Given the description of an element on the screen output the (x, y) to click on. 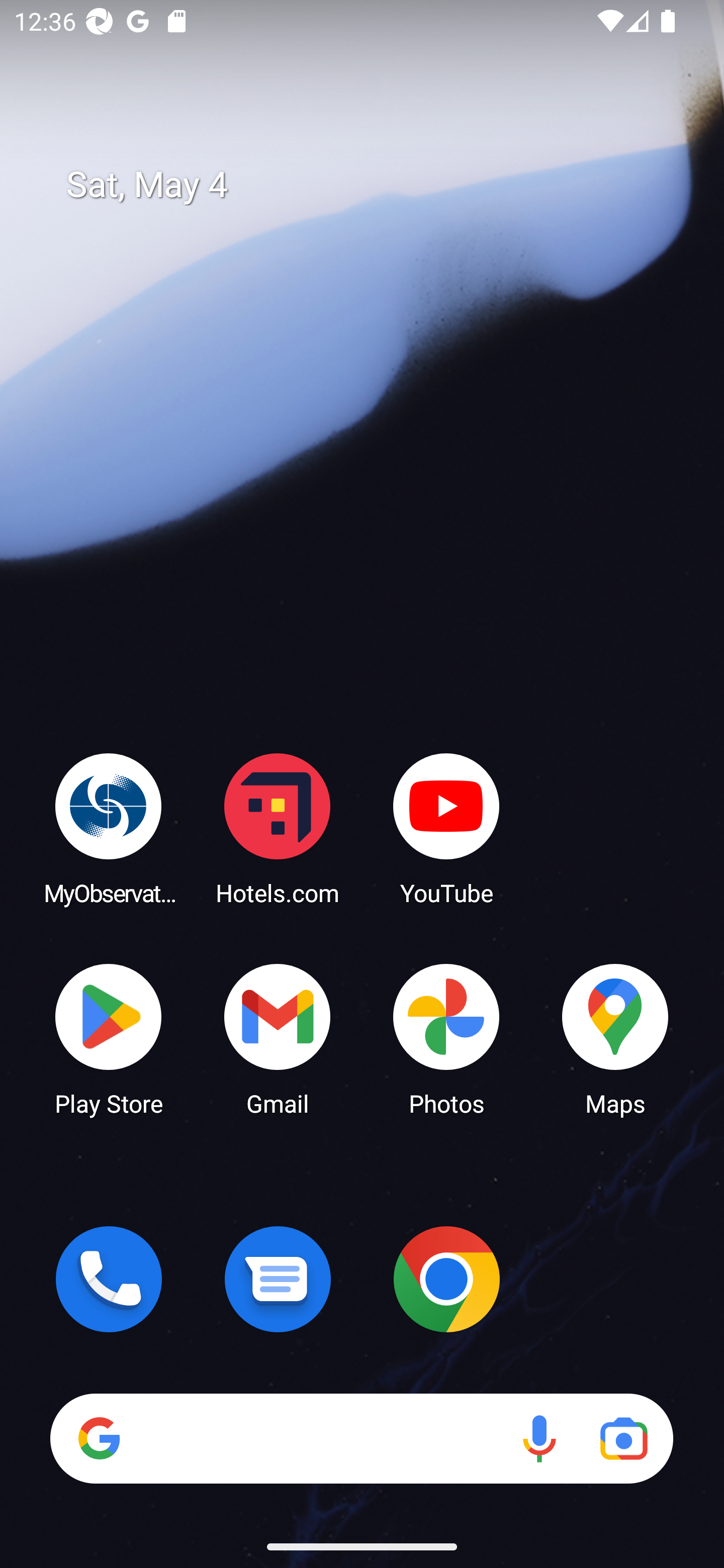
Sat, May 4 (375, 184)
MyObservatory (108, 828)
Hotels.com (277, 828)
YouTube (445, 828)
Play Store (108, 1038)
Gmail (277, 1038)
Photos (445, 1038)
Maps (615, 1038)
Phone (108, 1279)
Messages (277, 1279)
Chrome (446, 1279)
Search Voice search Google Lens (361, 1438)
Voice search (539, 1438)
Google Lens (623, 1438)
